Given the description of an element on the screen output the (x, y) to click on. 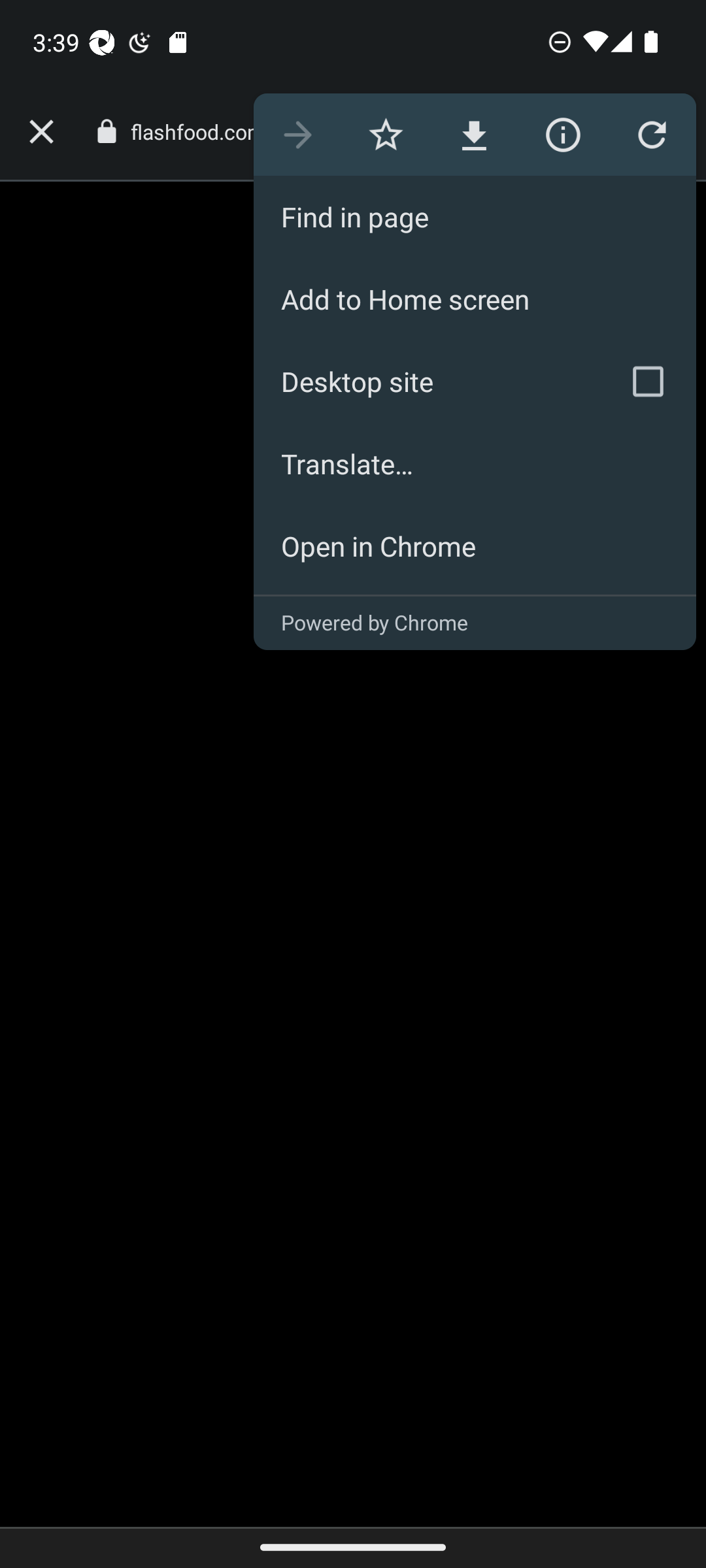
Go forward (297, 134)
Bookmark (385, 134)
Download page (473, 134)
View site information (562, 134)
Refresh (651, 134)
Find in page (474, 216)
Add to Home screen (474, 299)
Desktop site Turn on Request desktop site (426, 381)
Translate… (474, 463)
Open in Chrome (474, 546)
